Given the description of an element on the screen output the (x, y) to click on. 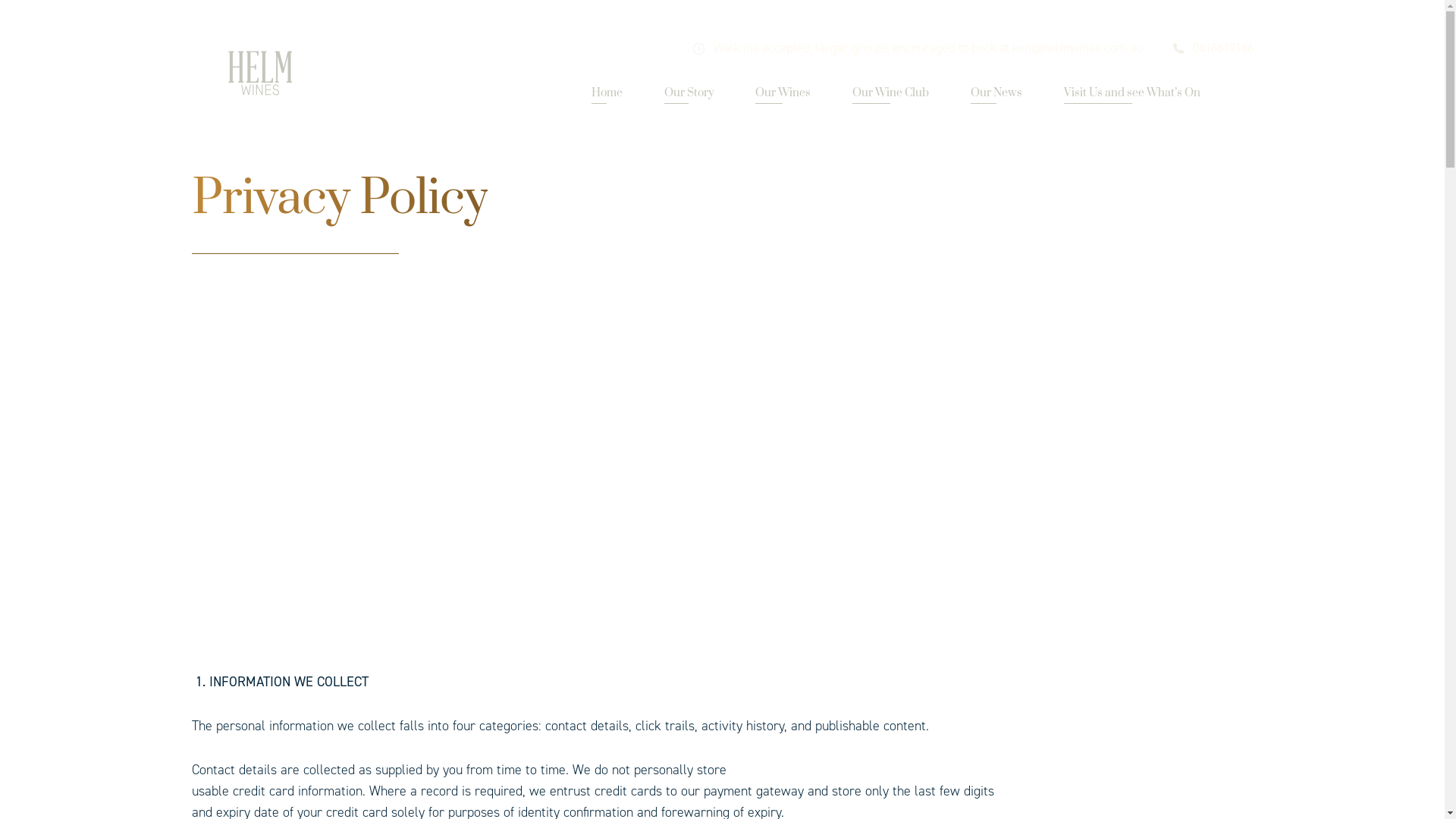
Our Story Element type: text (688, 93)
Skip to content Element type: text (42, 0)
Our Wines Element type: text (782, 93)
Our Wine Club Element type: text (890, 93)
Home Element type: text (606, 93)
Our News Element type: text (996, 93)
